Given the description of an element on the screen output the (x, y) to click on. 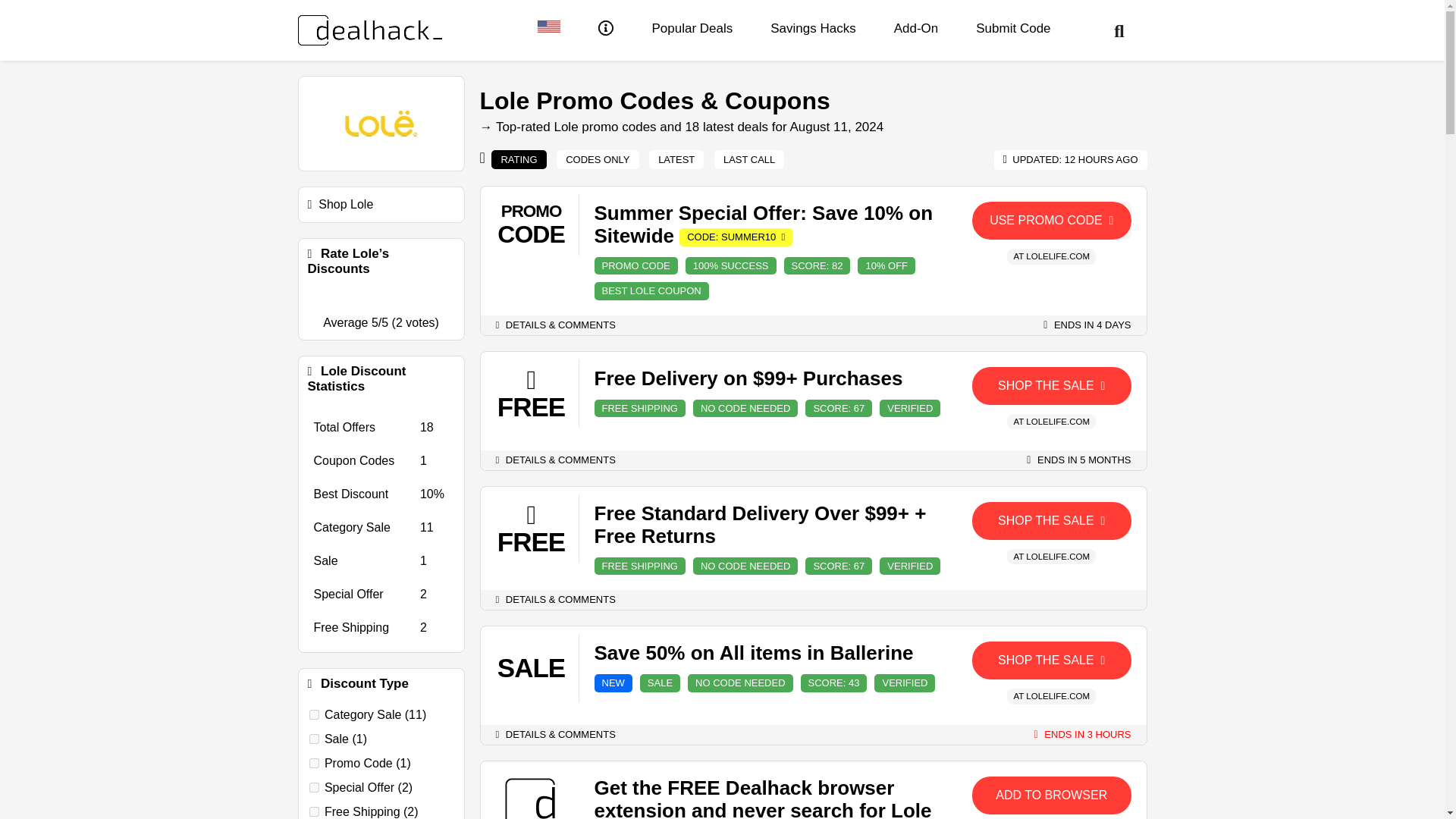
Click to open site (1051, 660)
Click to open site (1051, 520)
Popular Deals (691, 29)
Click to open site (1051, 795)
Dealhack USA (548, 29)
Affiliate Disclaimer (605, 30)
offer (313, 787)
Click to open site (1051, 385)
sale (313, 738)
coupon-code (313, 763)
